Given the description of an element on the screen output the (x, y) to click on. 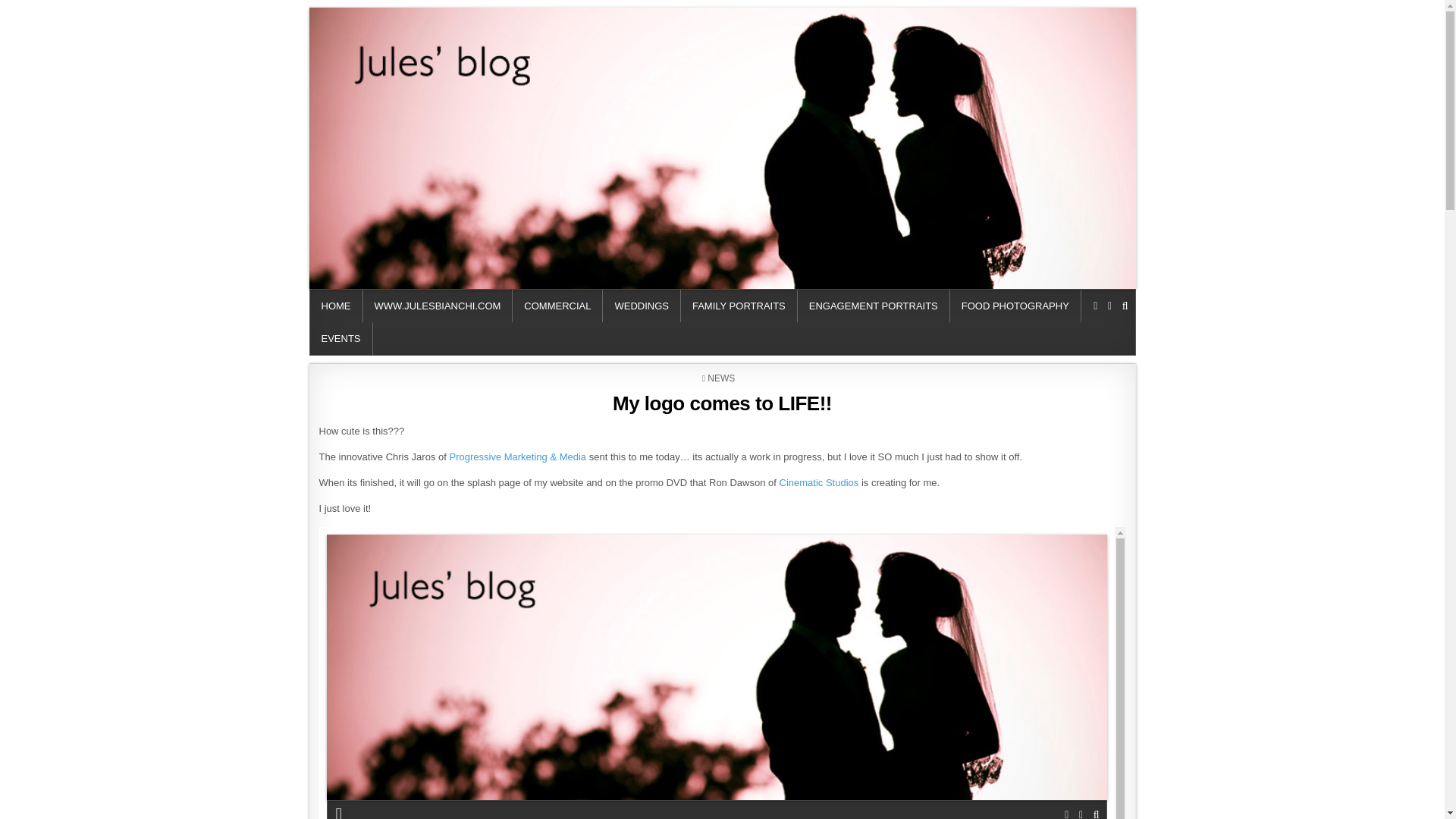
WWW.JULESBIANCHI.COM (437, 305)
ENGAGEMENT PORTRAITS (873, 305)
FOOD PHOTOGRAPHY (1015, 305)
NEWS (721, 378)
HOME (335, 305)
My logo comes to LIFE!! (721, 403)
FAMILY PORTRAITS (739, 305)
Cinematic Studios (818, 482)
COMMERCIAL (557, 305)
EVENTS (340, 338)
